Given the description of an element on the screen output the (x, y) to click on. 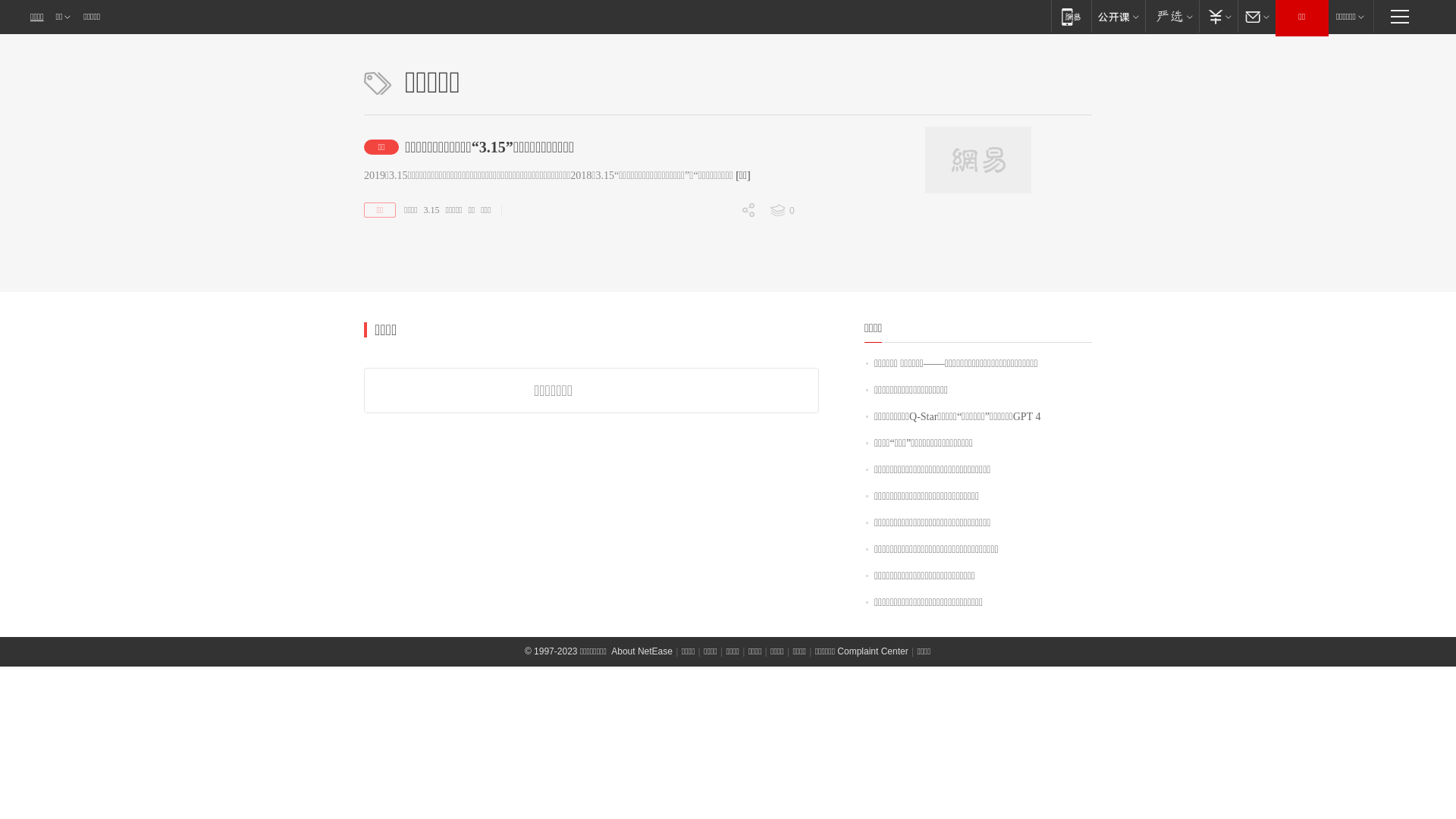
3.15 Element type: text (431, 209)
0 Element type: text (718, 289)
About NetEase Element type: text (641, 651)
0 Element type: text (718, 236)
0 Element type: text (718, 316)
0 Element type: text (792, 210)
